Given the description of an element on the screen output the (x, y) to click on. 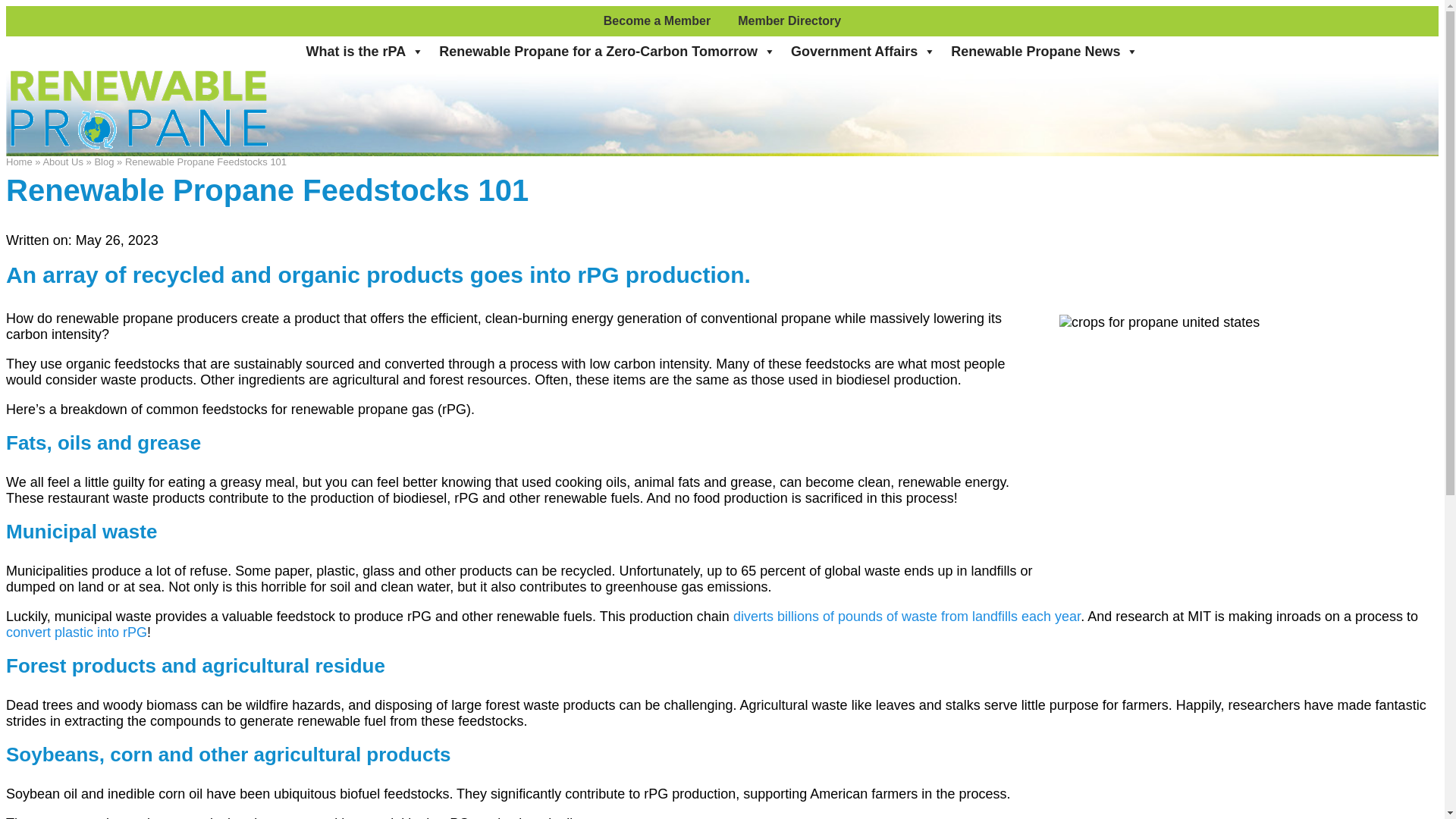
What is the rPA (365, 51)
Renewable Propane News (1044, 51)
Home (18, 161)
convert plastic into rPG (76, 631)
Become a Member (656, 20)
diverts billions of pounds of waste from landfills each year (906, 616)
homepage (137, 147)
Government Affairs (863, 51)
Member Directory (788, 20)
Renewable Propane for a Zero-Carbon Tomorrow (606, 51)
green innovation (76, 631)
About Us (62, 161)
Blog (103, 161)
read more (906, 616)
